Given the description of an element on the screen output the (x, y) to click on. 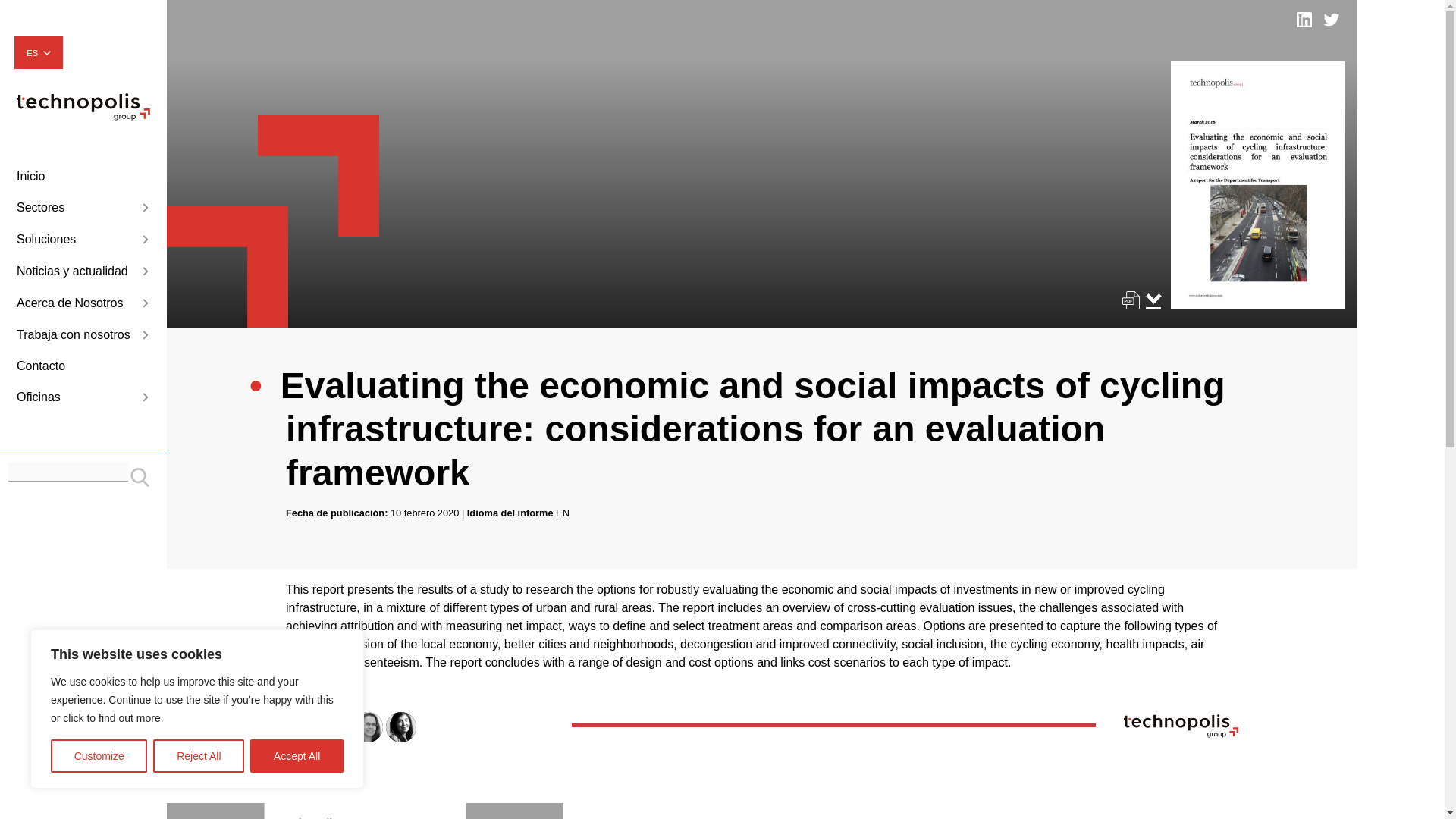
Sectores (82, 207)
Twitter (1331, 19)
Customize (98, 756)
LinkedIn (1304, 19)
ES (38, 53)
technopolis (82, 115)
Inicio (82, 176)
ES (38, 53)
Soluciones (82, 239)
Accept All (296, 756)
Reject All (198, 756)
Technopolis Group (82, 106)
